Given the description of an element on the screen output the (x, y) to click on. 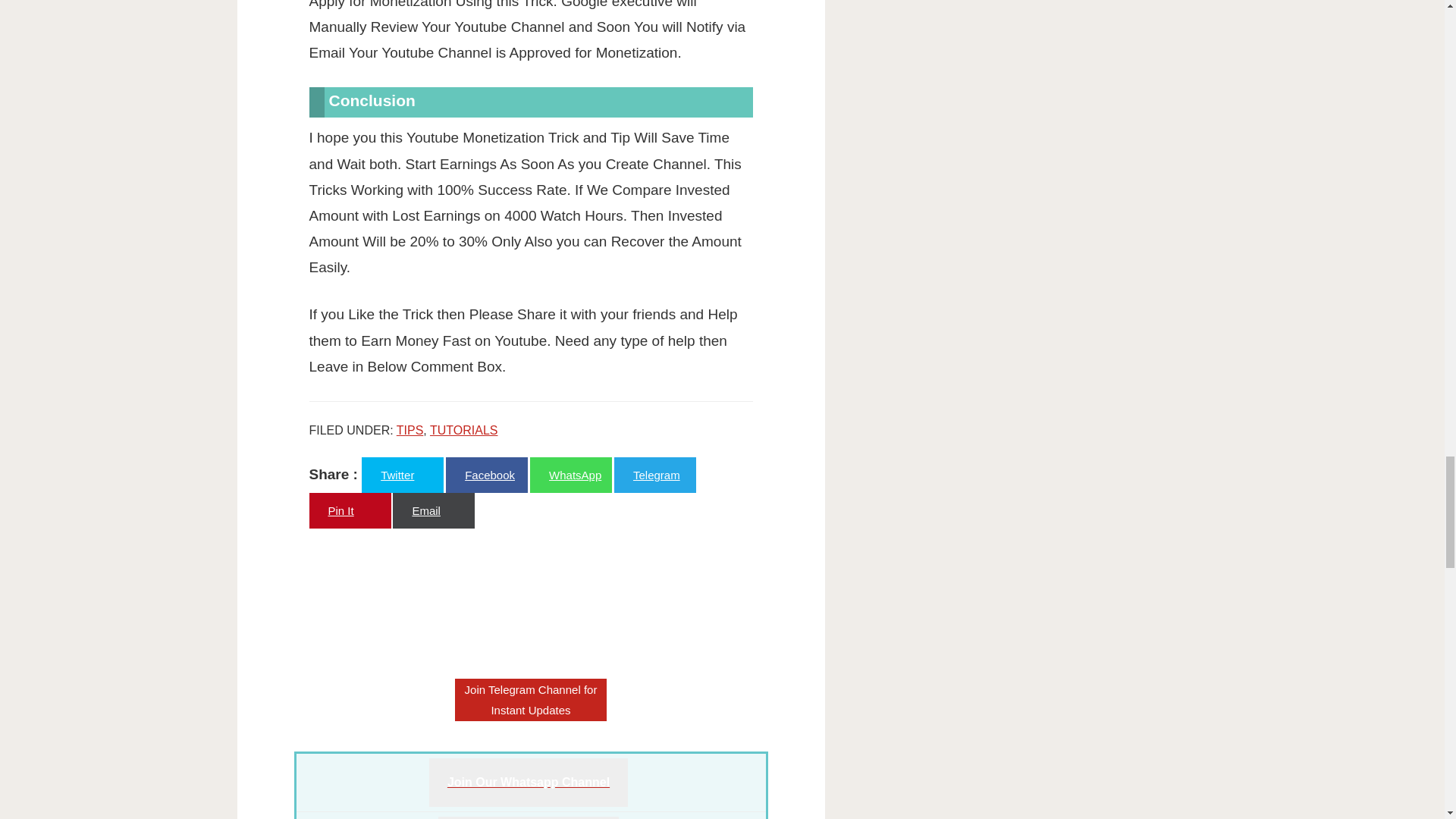
Join Our Whatsapp Channel (528, 782)
Twitter (402, 475)
Email (433, 510)
Telegram (654, 475)
TUTORIALS (463, 430)
Share by Email (433, 510)
Facebook (486, 475)
Join Our Whatsapp Channel (528, 781)
Join Telegram Channel for Instant Updates (530, 699)
WhatsApp (570, 475)
